Given the description of an element on the screen output the (x, y) to click on. 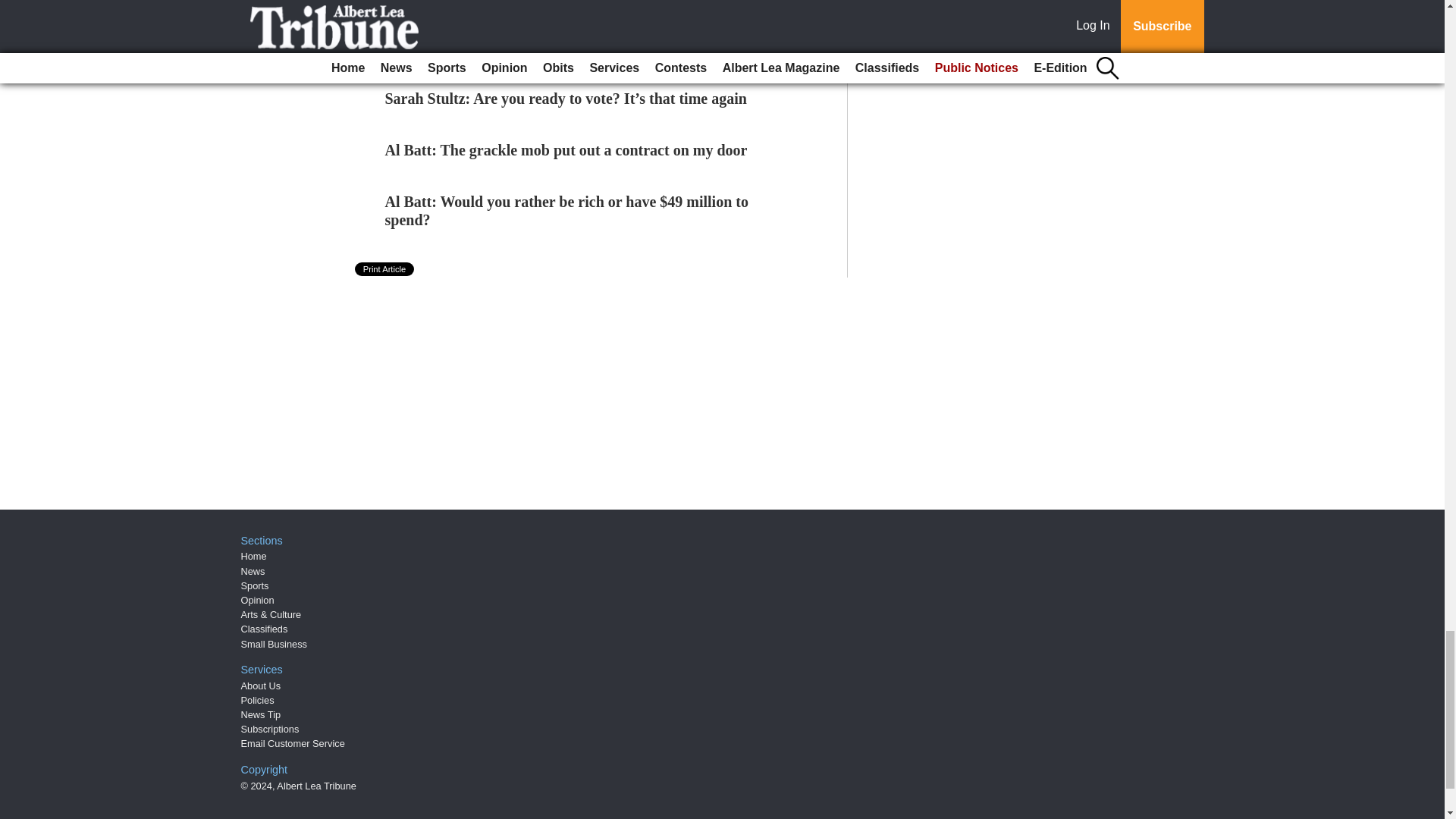
Al Batt: The grackle mob put out a contract on my door (566, 149)
